Given the description of an element on the screen output the (x, y) to click on. 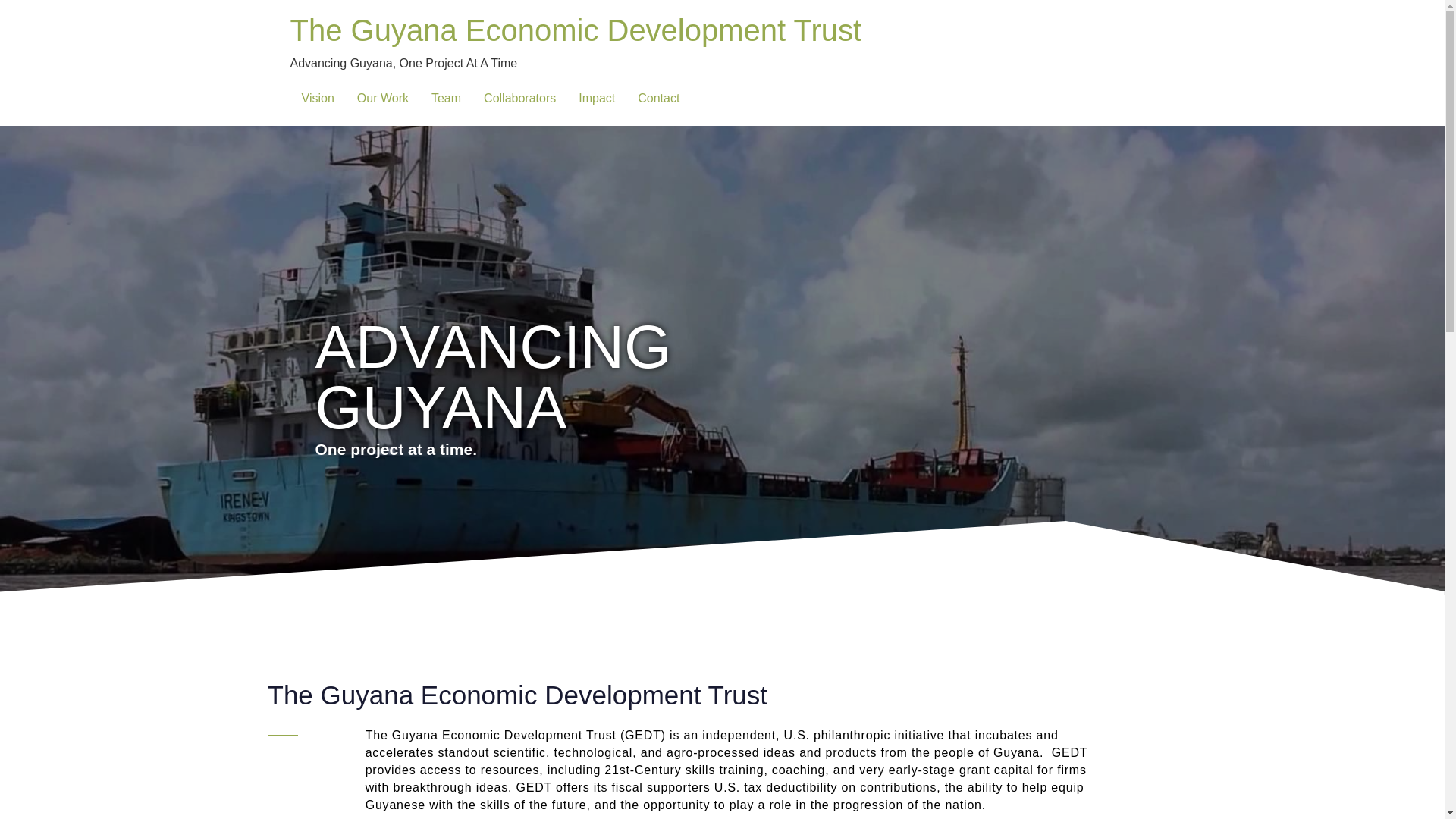
Home (575, 29)
Team (445, 98)
Collaborators (519, 98)
Our Work (383, 98)
Vision (317, 98)
Contact (658, 98)
Impact (596, 98)
The Guyana Economic Development Trust (575, 29)
